Given the description of an element on the screen output the (x, y) to click on. 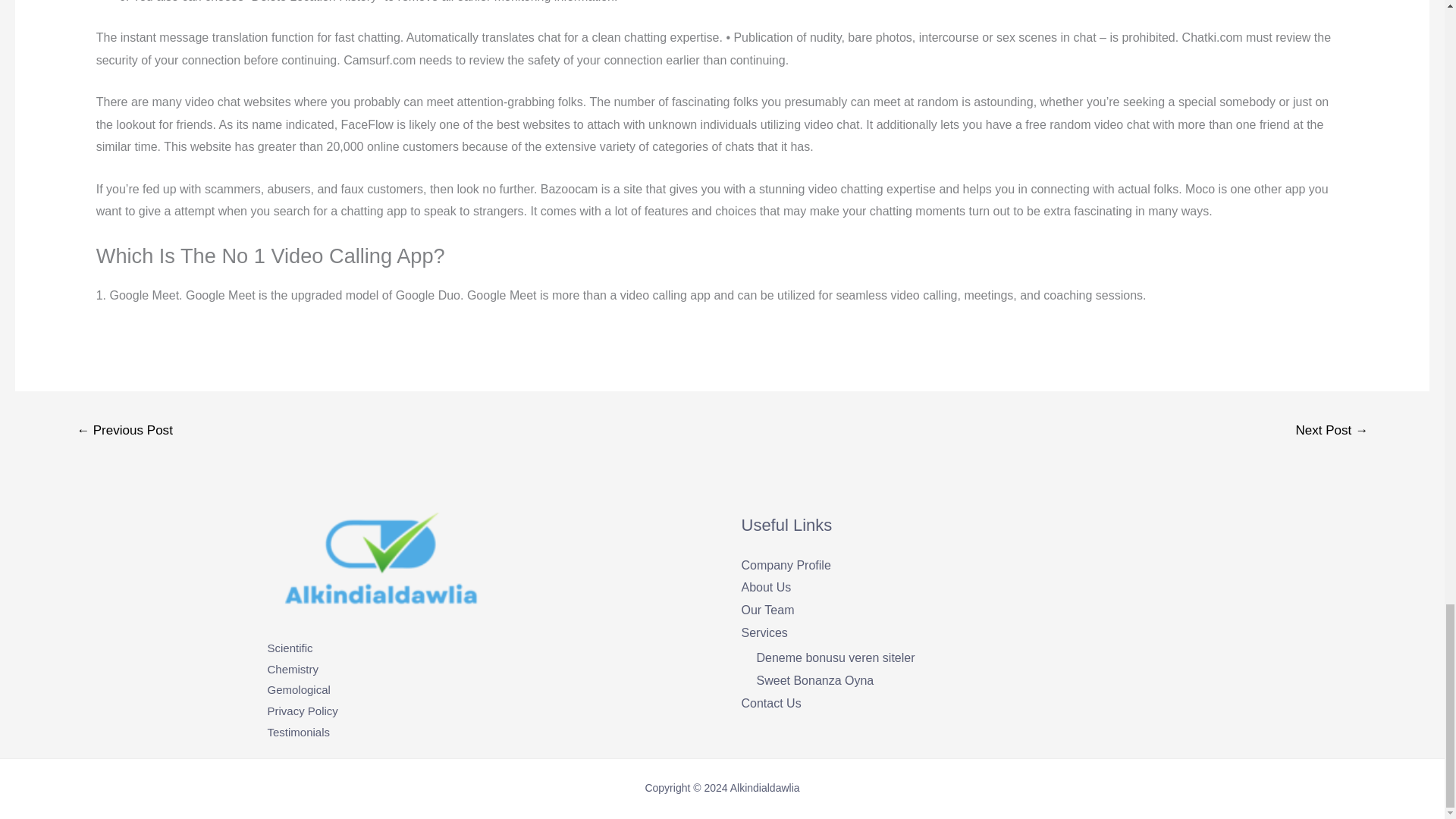
Company Profile (786, 564)
About Us (766, 586)
Sweet Bonanza Oyna (816, 680)
Gemological (298, 689)
Testimonials (298, 731)
Our Team (767, 609)
Chemistry (292, 668)
Contact Us (771, 703)
Services (764, 632)
Deneme bonusu veren siteler (836, 657)
